Given the description of an element on the screen output the (x, y) to click on. 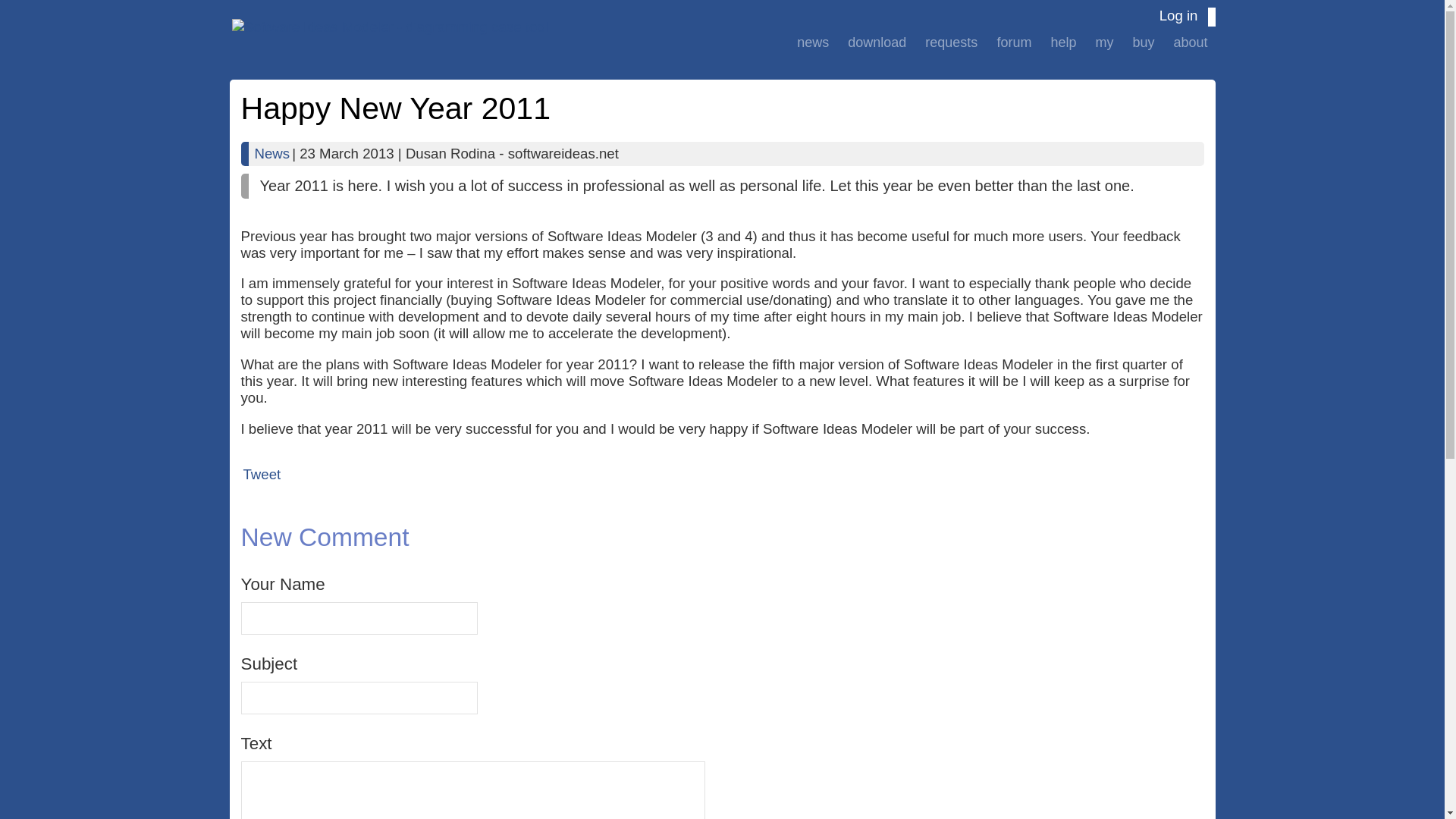
requests (951, 42)
forum (1013, 42)
my (1104, 42)
help (1062, 42)
Log in (1178, 15)
about (1190, 42)
buy (1142, 42)
news (812, 42)
News (271, 153)
Tweet (262, 474)
